Given the description of an element on the screen output the (x, y) to click on. 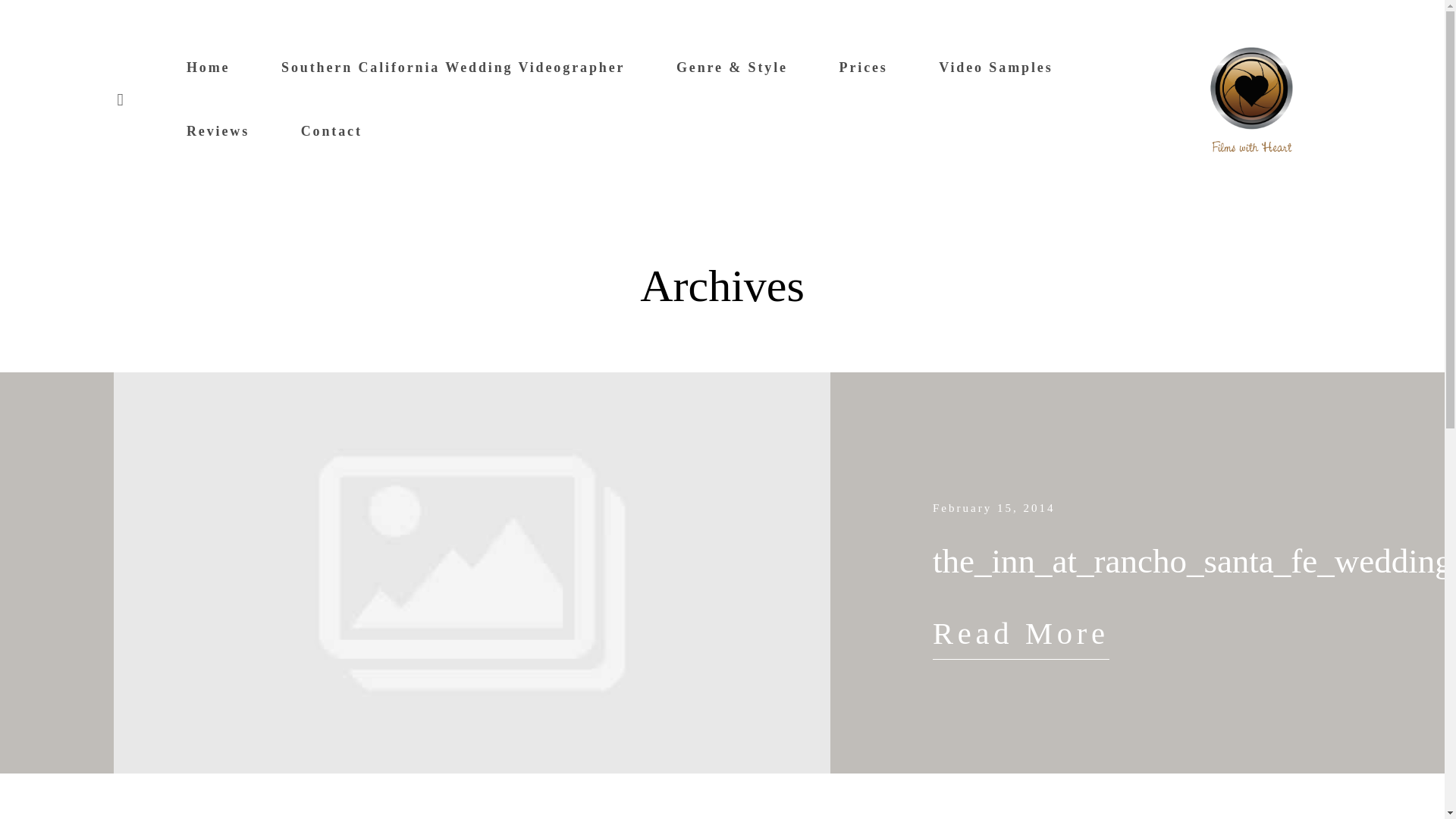
Video Samples (995, 67)
Contact (331, 131)
Prices (862, 67)
Southern California Wedding Videographer (452, 67)
Home (208, 67)
Reviews (217, 131)
